Given the description of an element on the screen output the (x, y) to click on. 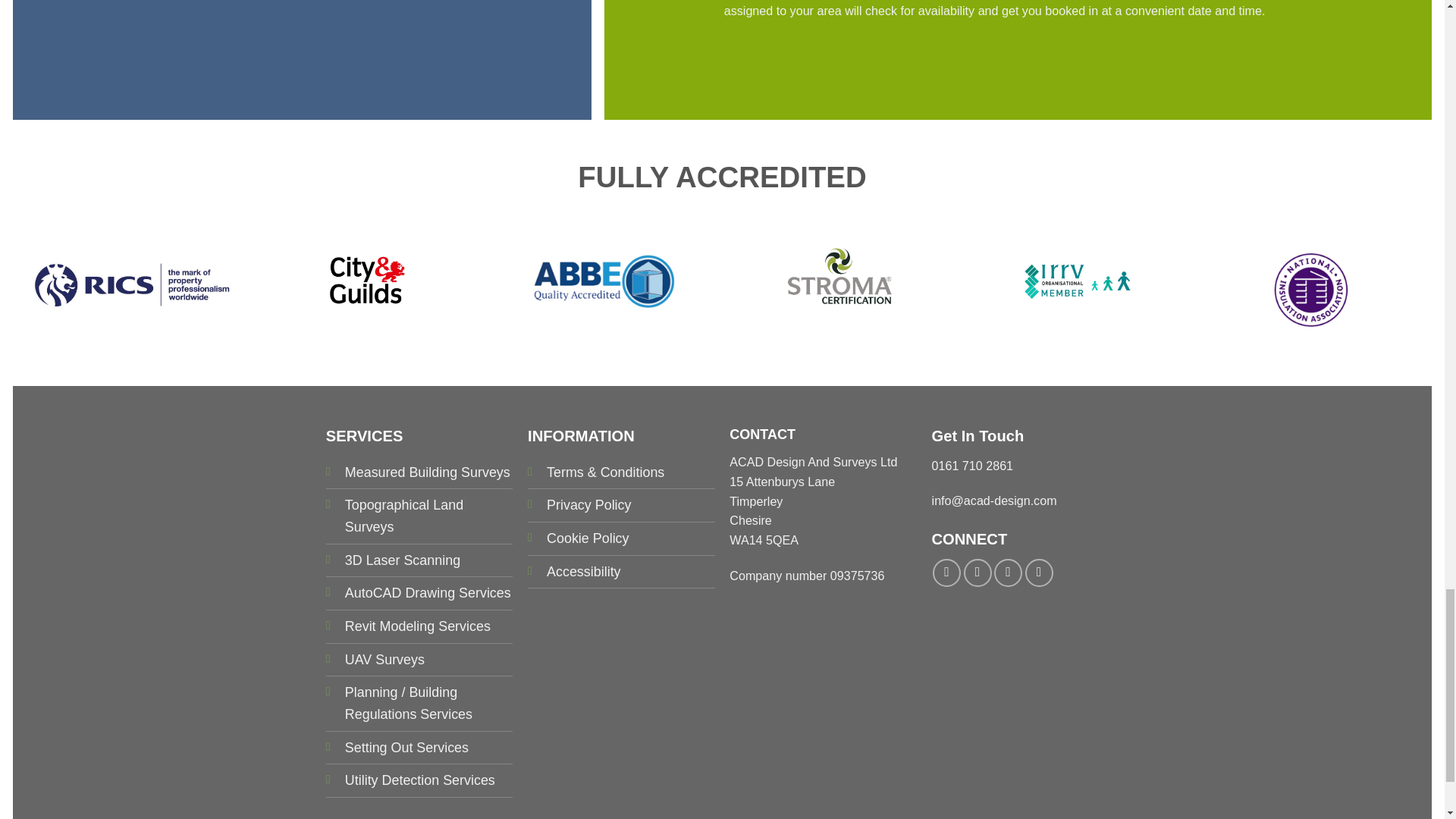
Follow on Facebook (946, 572)
Follow on Instagram (977, 572)
Follow on LinkedIn (1038, 572)
Follow on Twitter (1008, 572)
